Given the description of an element on the screen output the (x, y) to click on. 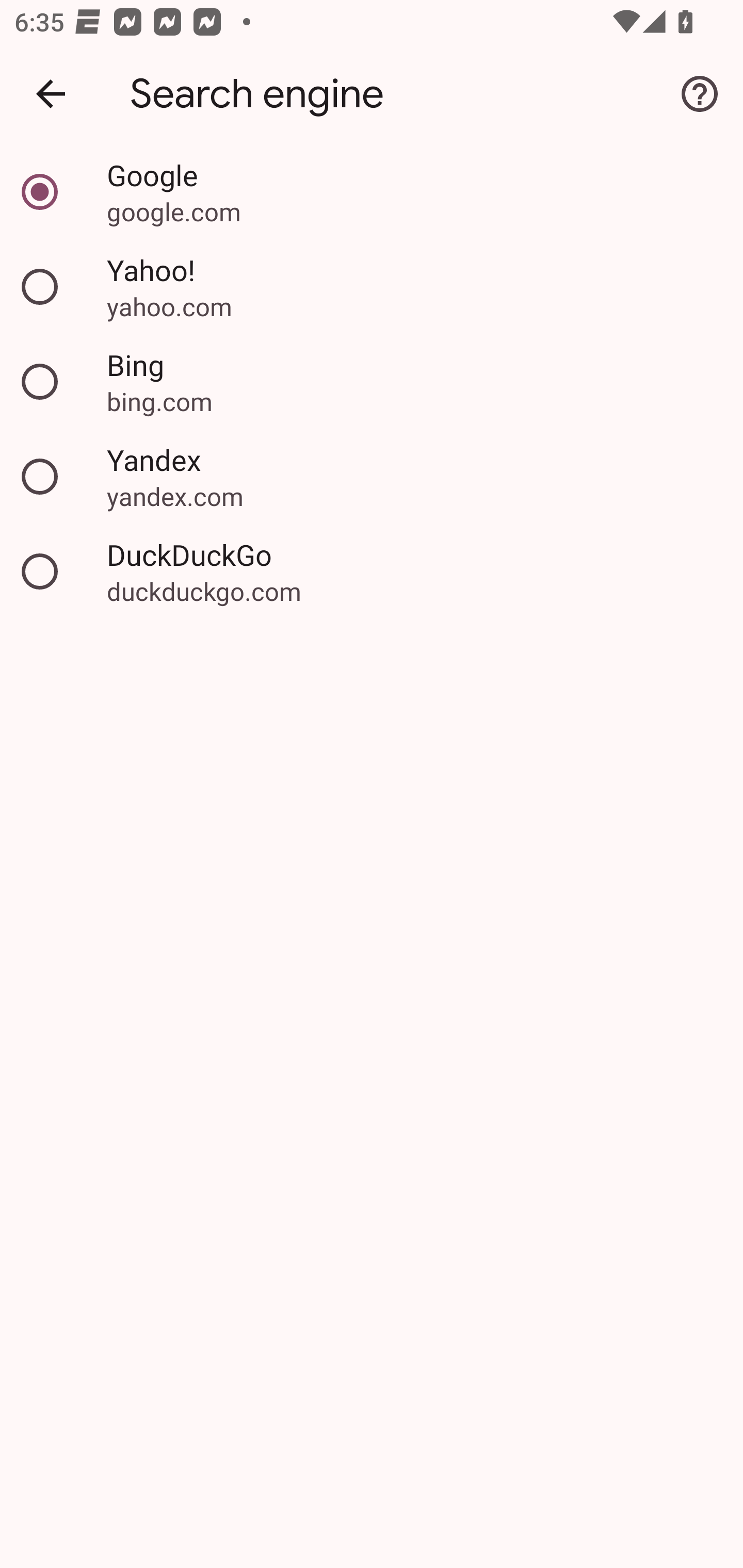
Navigate up (50, 93)
Help & feedback (699, 93)
Google google.com (371, 191)
Yahoo! yahoo.com (371, 286)
Bing bing.com (371, 381)
Yandex yandex.com (371, 476)
DuckDuckGo duckduckgo.com (371, 571)
